Given the description of an element on the screen output the (x, y) to click on. 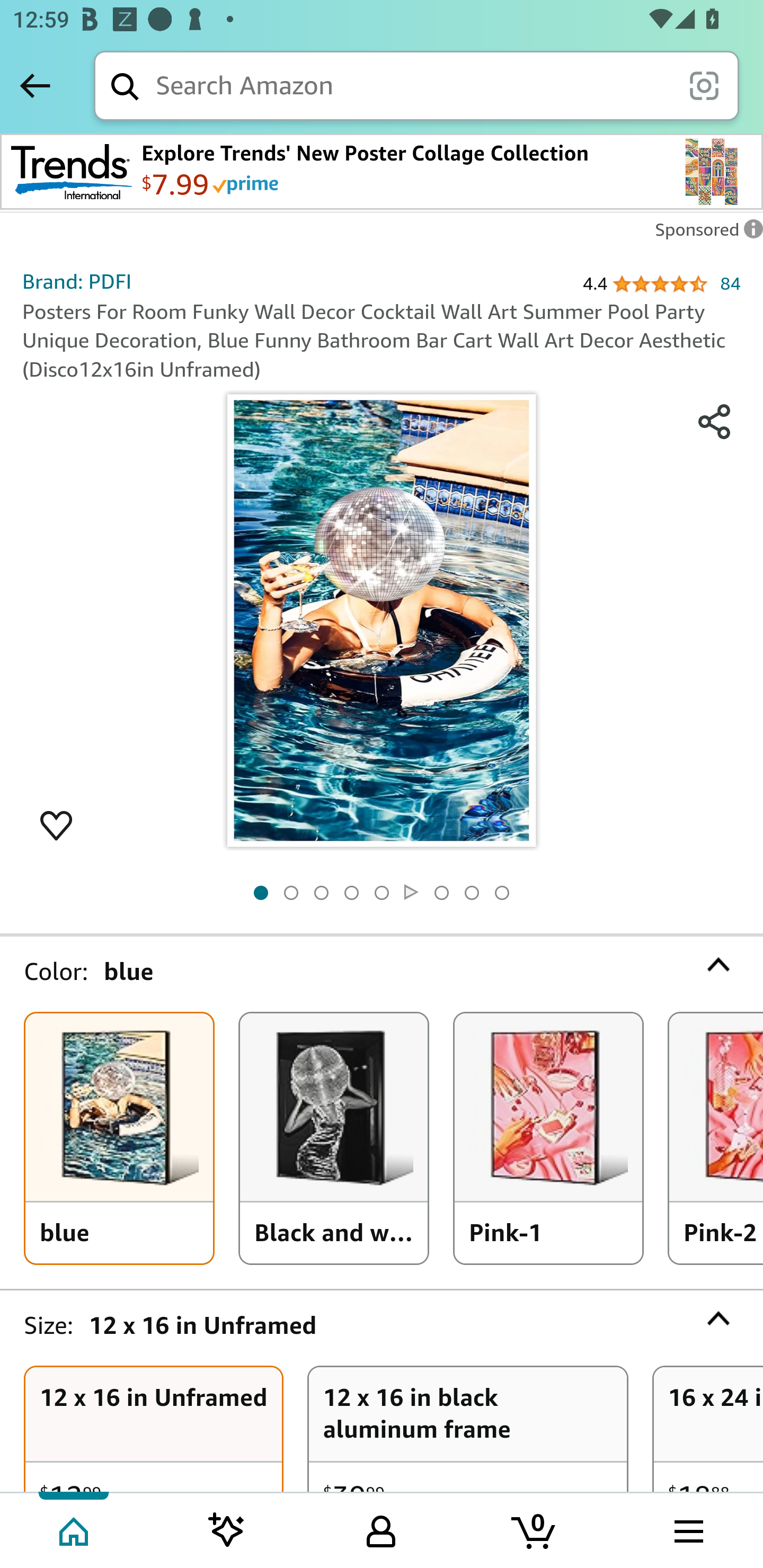
Back (35, 85)
Search Search Search Amazon scan it (416, 85)
scan it (704, 85)
Leave feedback on Sponsored ad Sponsored  (703, 234)
Brand: PDFI (76, 281)
Heart to save an item to your default list (56, 824)
blue (118, 1137)
Black and white-2 (333, 1137)
Pink-1 (548, 1137)
12 x 16 in Unframed $12.99 In Stock (154, 1429)
12 x 16 in black aluminum frame $39.99 In Stock (467, 1429)
Home Tab 1 of 5 (75, 1529)
Inspire feed Tab 2 of 5 (227, 1529)
Your Amazon.com Tab 3 of 5 (380, 1529)
Cart 0 item Tab 4 of 5 0 (534, 1529)
Browse menu Tab 5 of 5 (687, 1529)
